Given the description of an element on the screen output the (x, y) to click on. 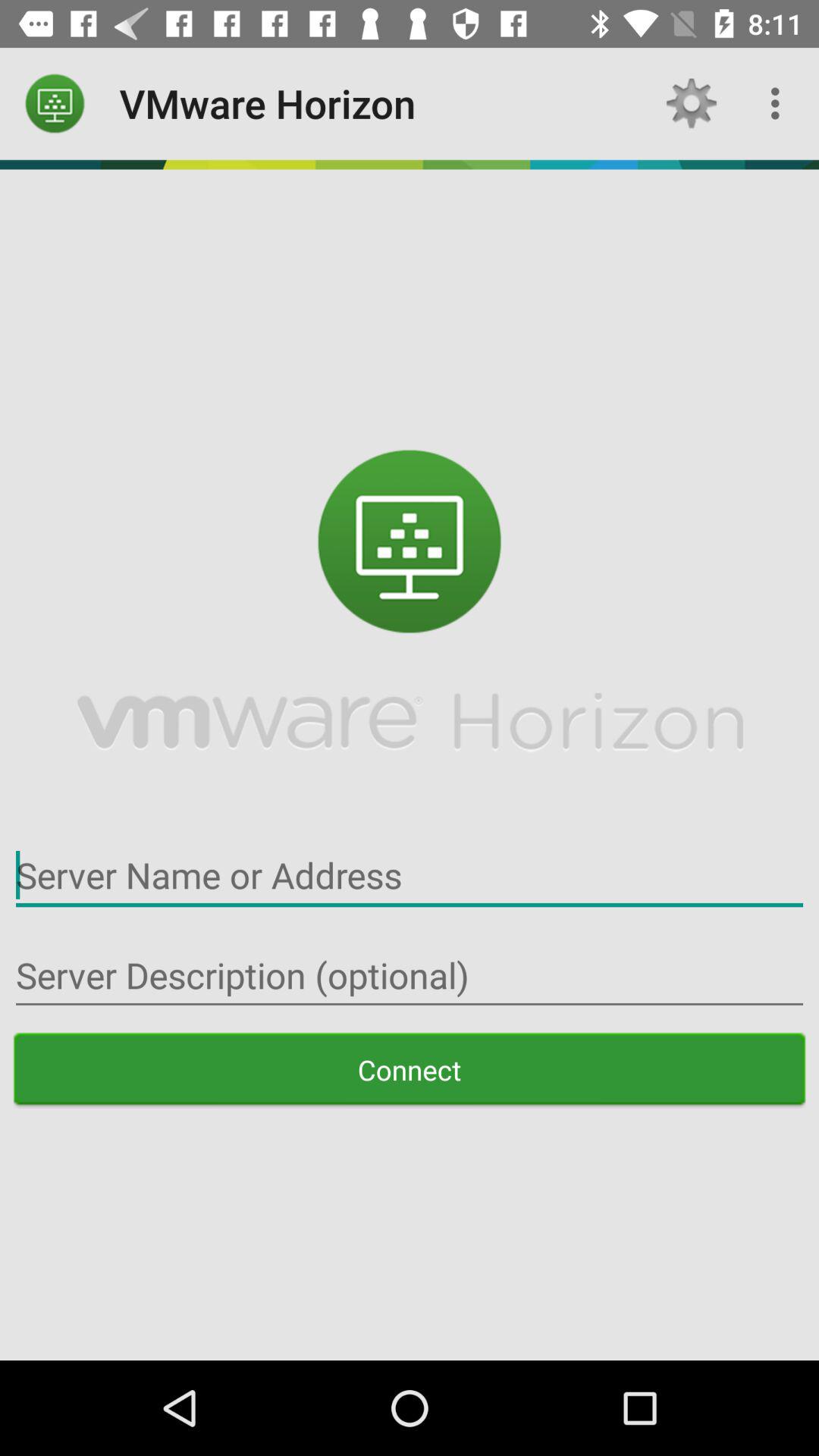
space to enter description (409, 975)
